Given the description of an element on the screen output the (x, y) to click on. 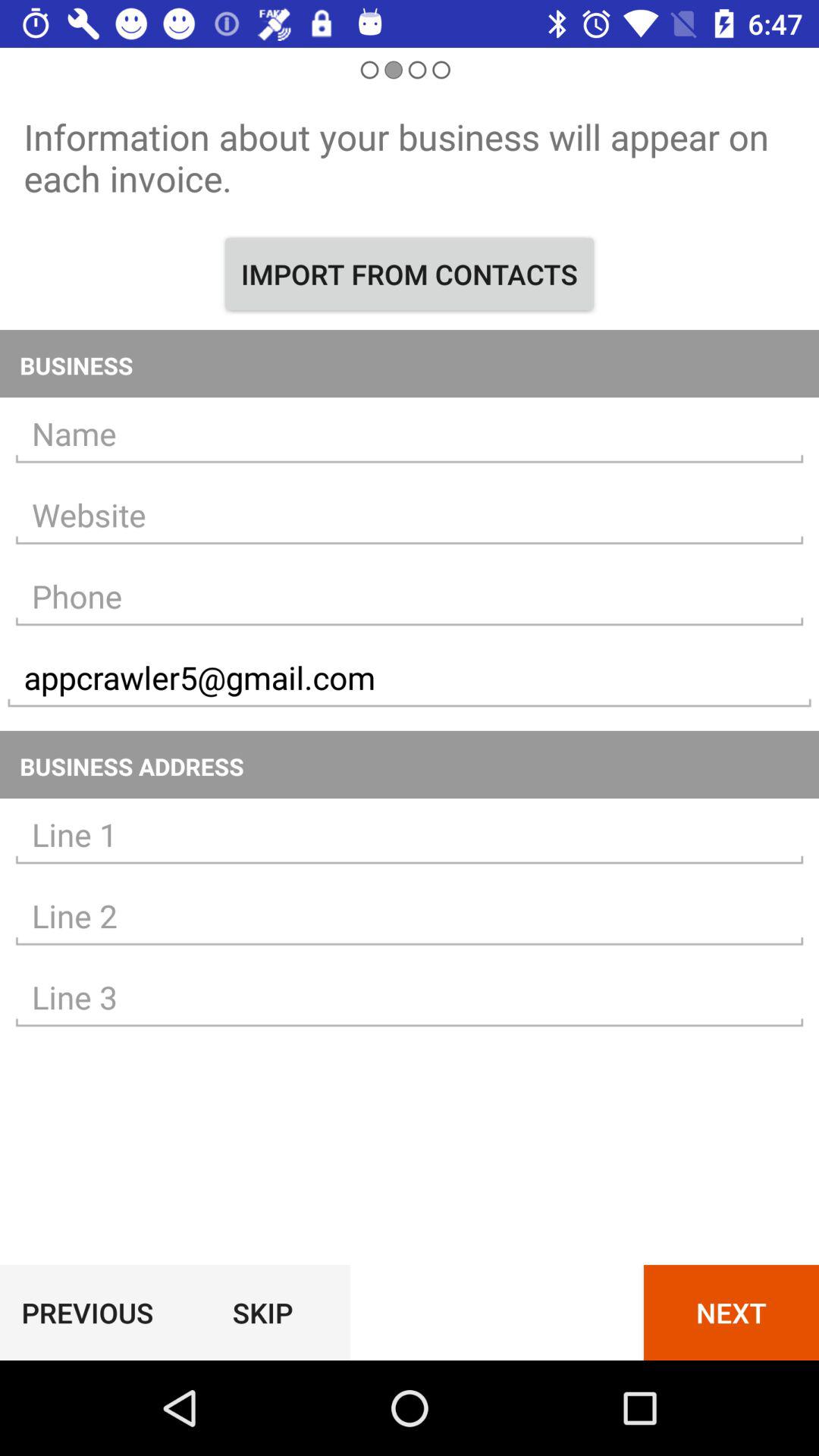
select name (409, 433)
